Given the description of an element on the screen output the (x, y) to click on. 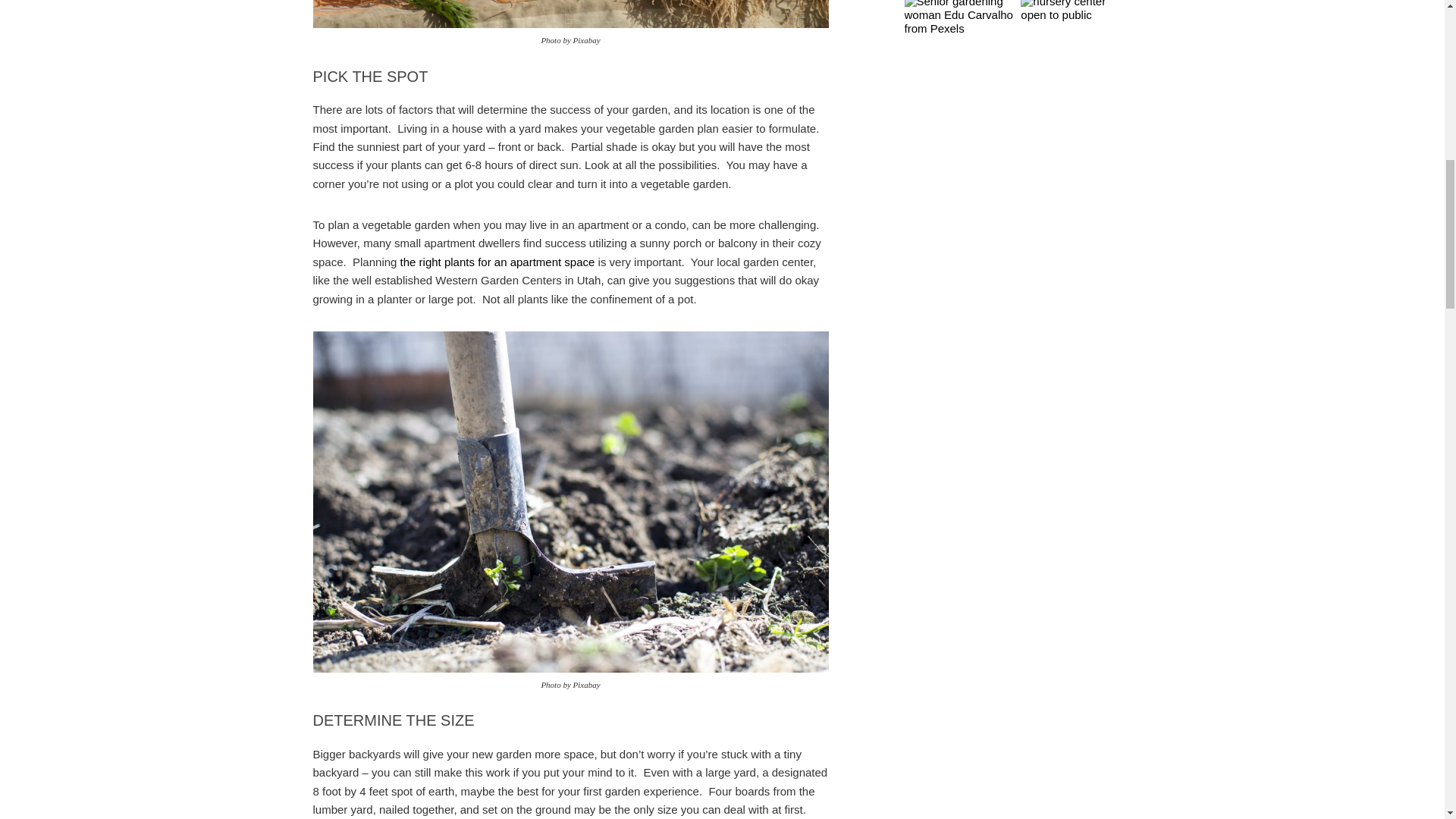
GARDEN CENTER IS NOW OPEN! (1075, 11)
the right plants for an apartment space (497, 261)
